Given the description of an element on the screen output the (x, y) to click on. 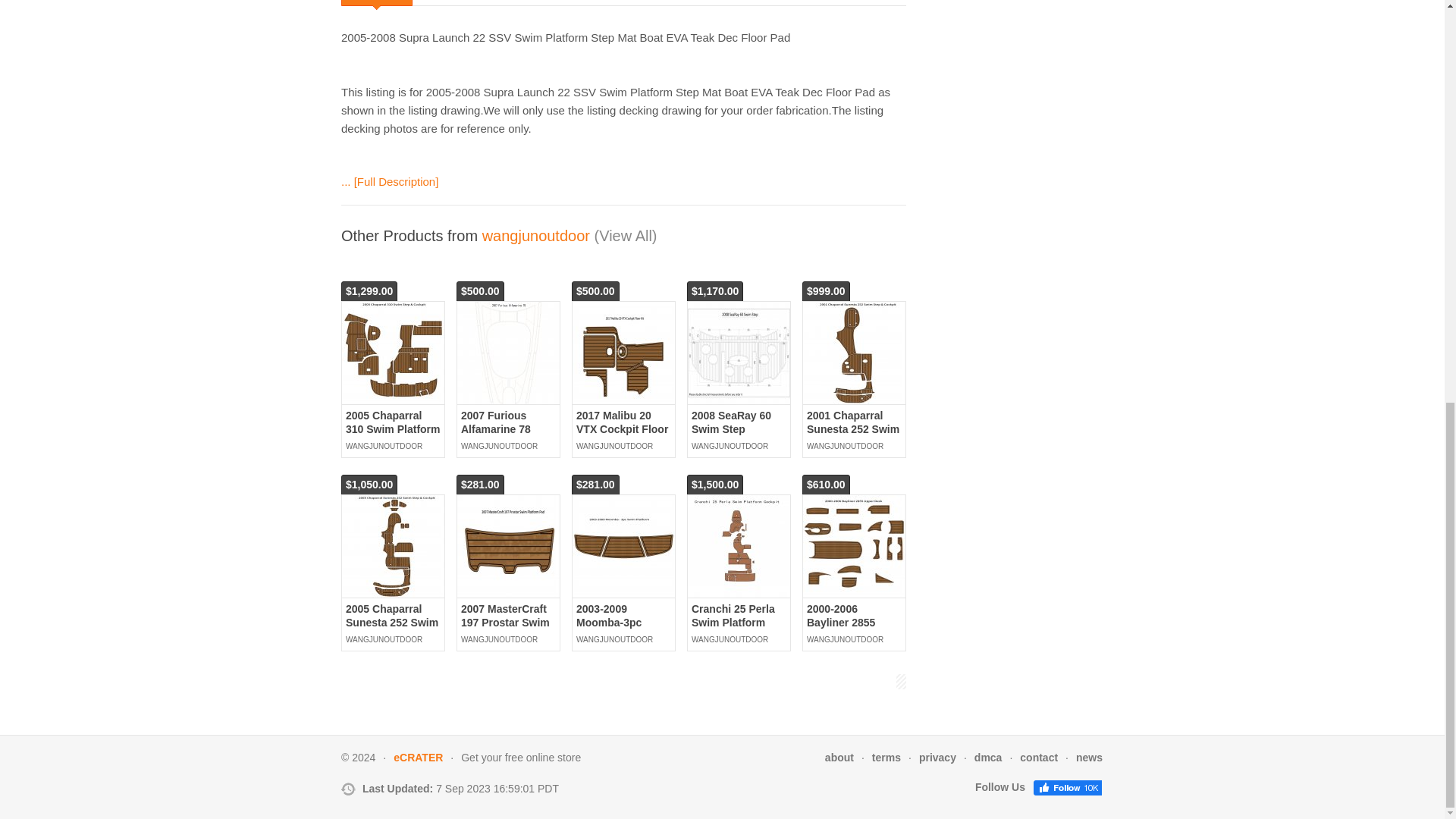
2007 Furious Alfamarine 78 Boat EVA Faux Teak Deck Floor Pad (501, 442)
